Given the description of an element on the screen output the (x, y) to click on. 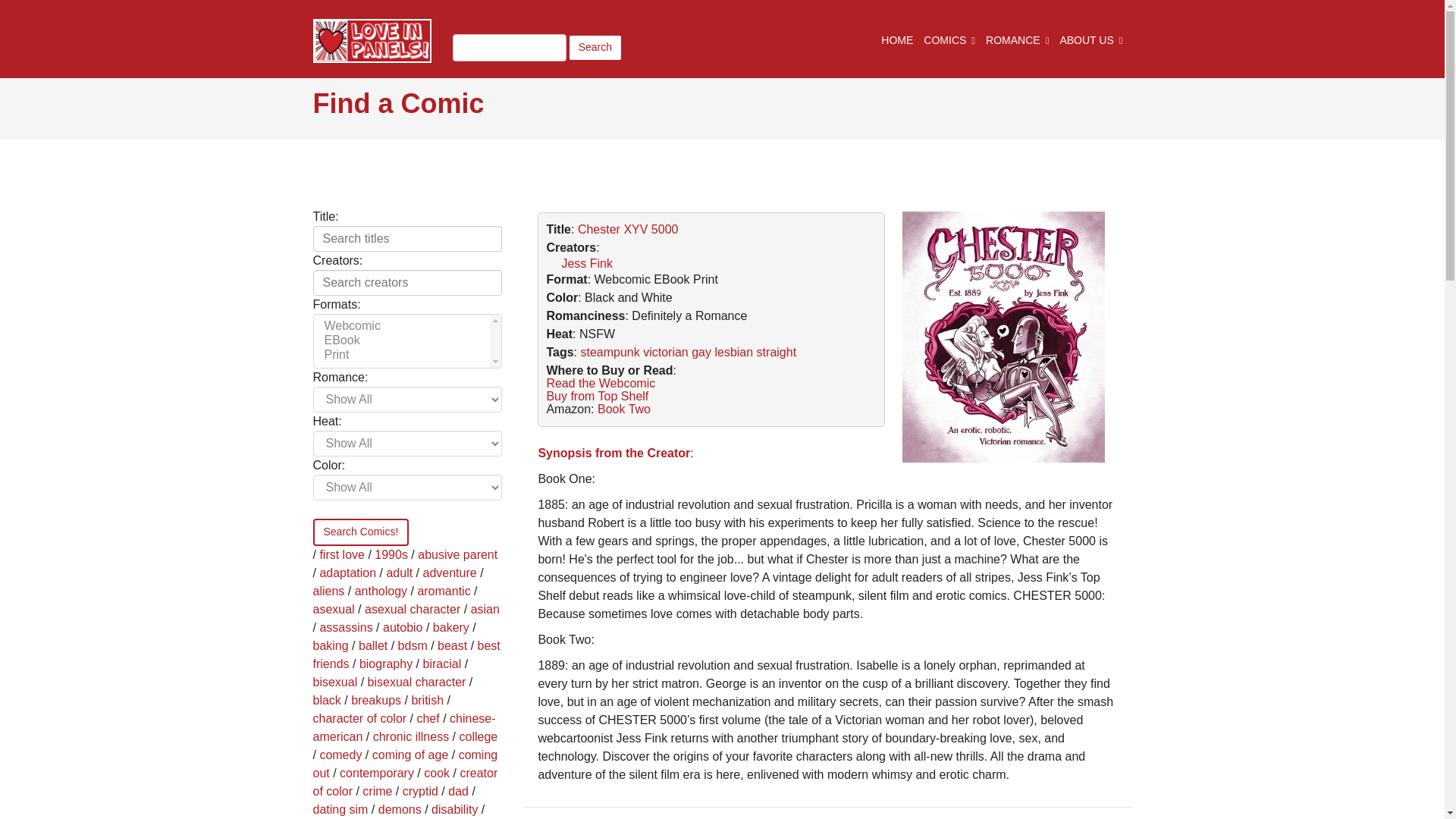
HOME (896, 35)
black (326, 699)
aromantic (443, 590)
LoveinPanelswhite.png (371, 40)
autobio (402, 626)
anthology (381, 590)
ROMANCE (1016, 35)
asexual character (412, 608)
beast (452, 645)
asexual (333, 608)
best friends (406, 654)
biography (385, 663)
abusive parent (457, 554)
biracial (442, 663)
adult (398, 572)
